Given the description of an element on the screen output the (x, y) to click on. 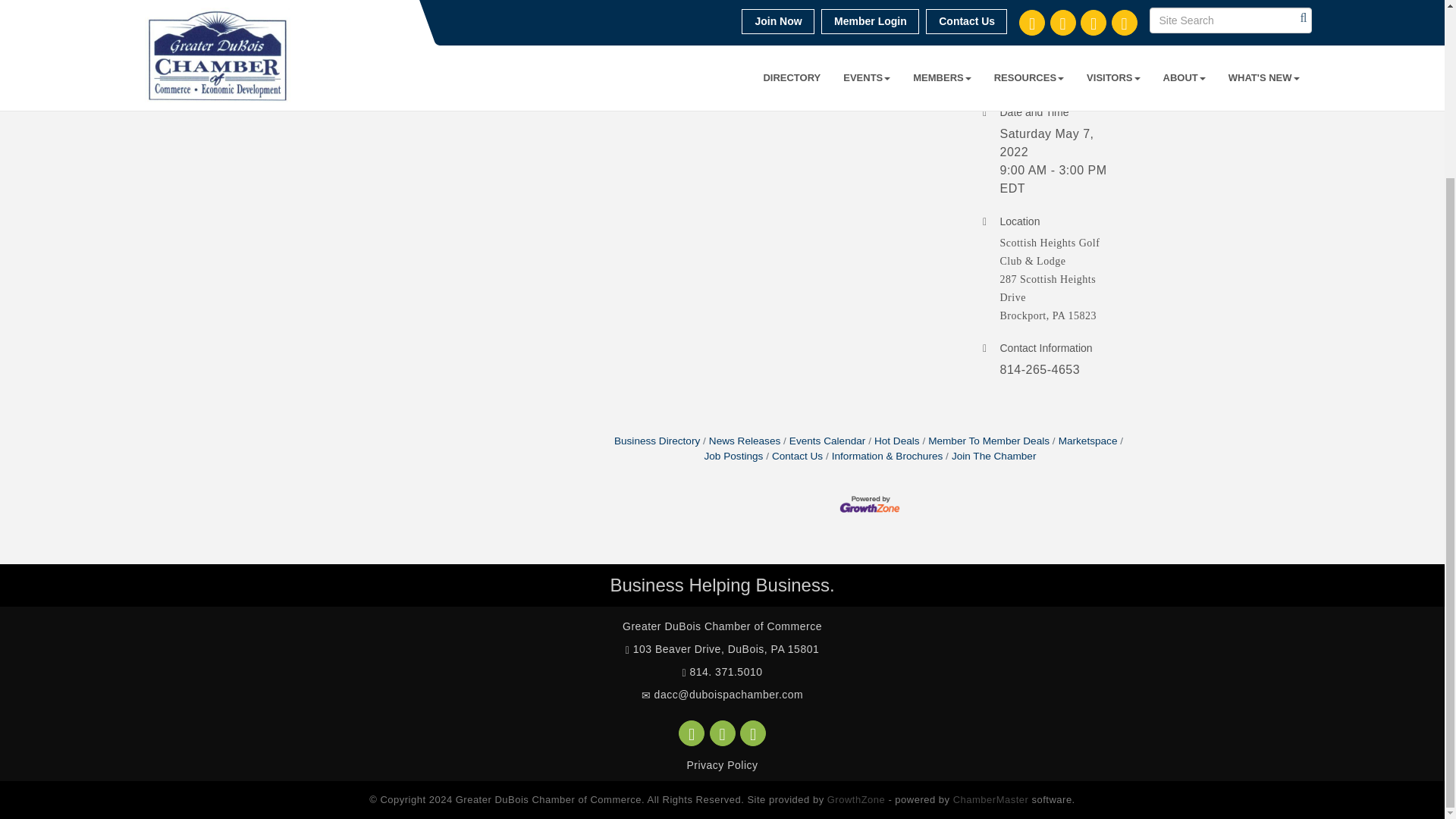
Icon Link (691, 733)
